Given the description of an element on the screen output the (x, y) to click on. 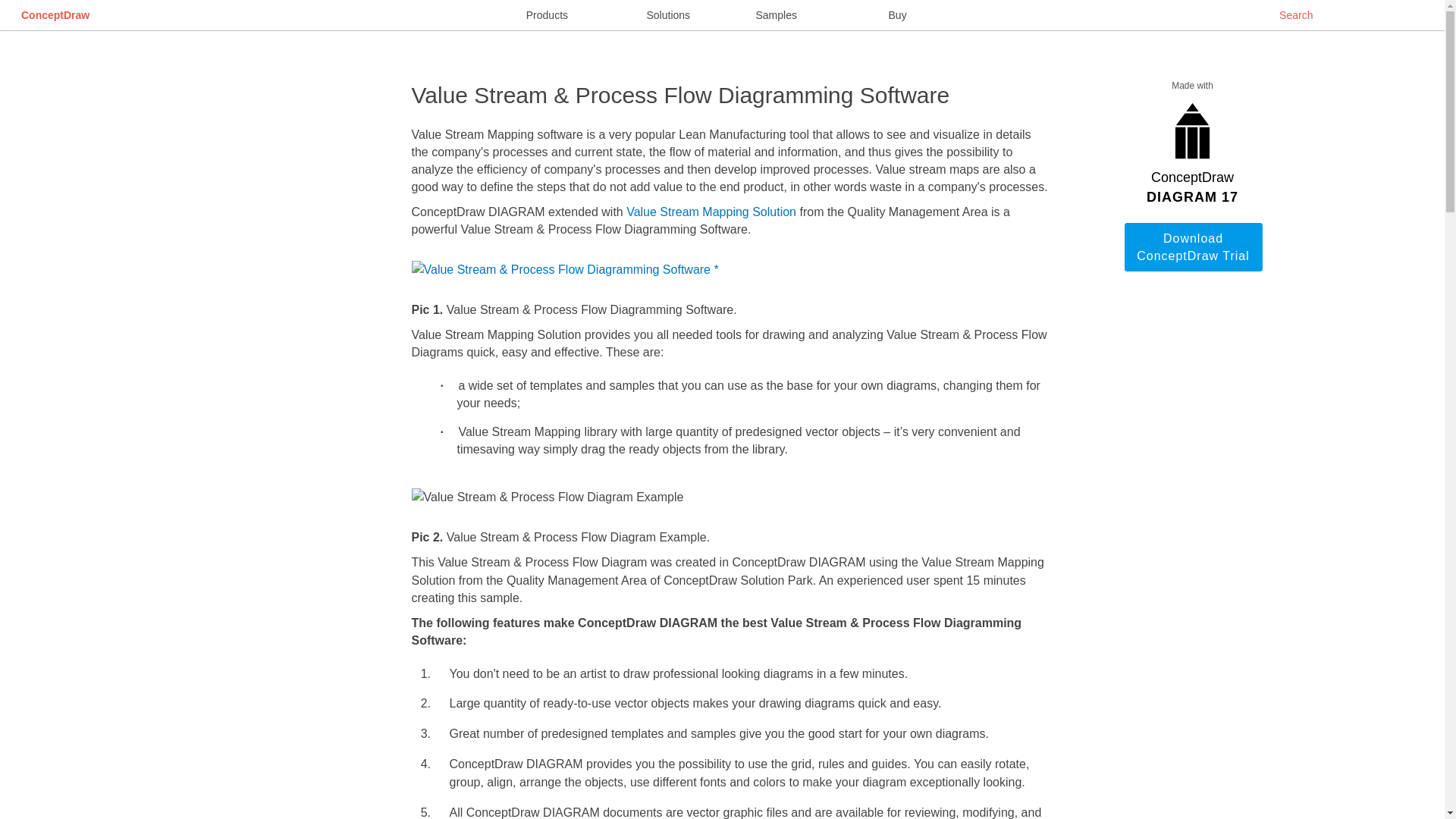
Download ConceptDraw Trial (1193, 246)
Products (546, 15)
ConceptDraw (54, 15)
Buy (898, 15)
Value Stream Mapping Solution (711, 211)
Solutions (668, 15)
Samples (775, 15)
